Given the description of an element on the screen output the (x, y) to click on. 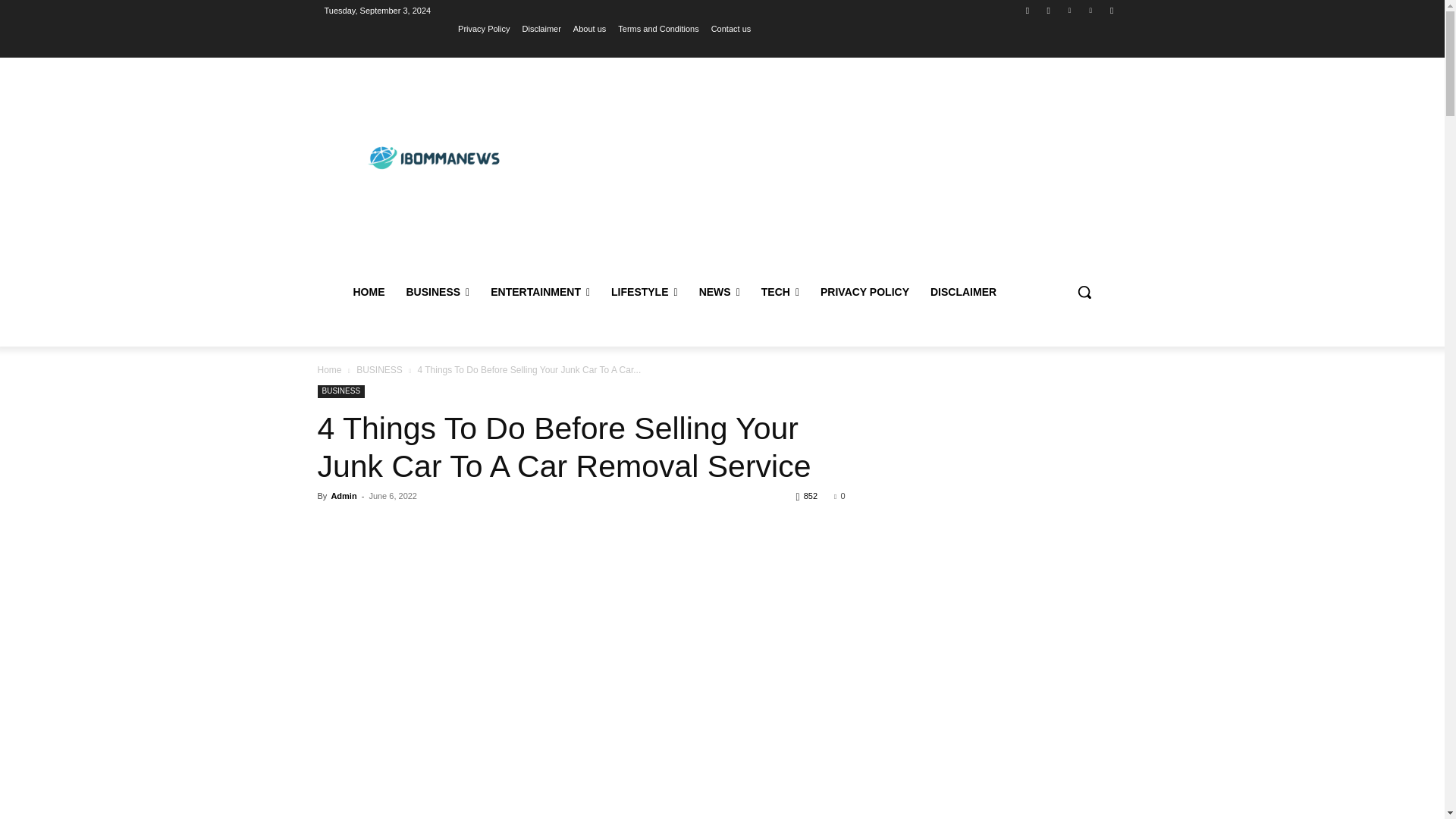
Vimeo (1090, 9)
Youtube (1112, 9)
Facebook (1027, 9)
Twitter (1069, 9)
Instagram (1048, 9)
View all posts in BUSINESS (379, 369)
